Given the description of an element on the screen output the (x, y) to click on. 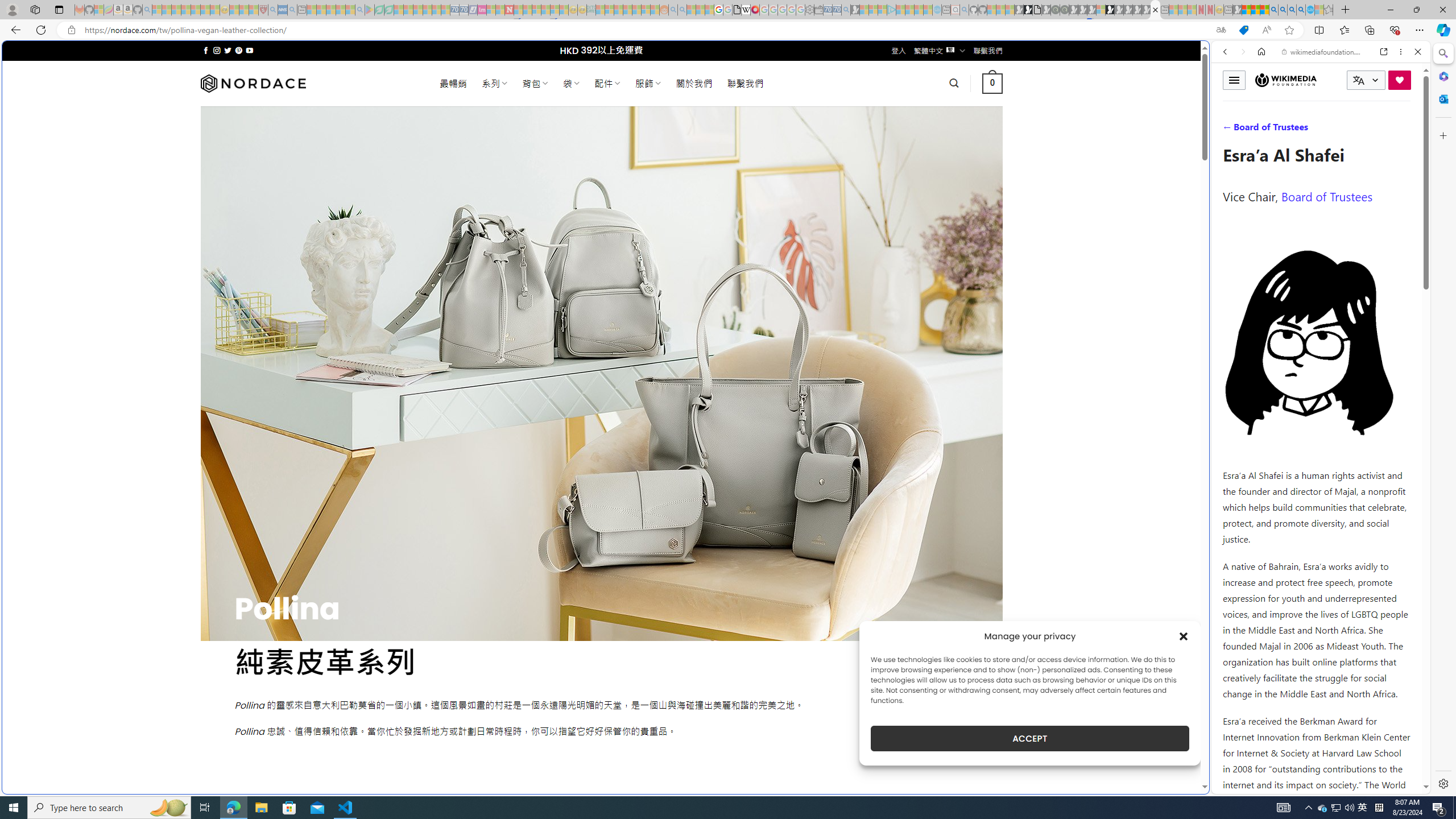
The Weather Channel - MSN - Sleeping (175, 9)
Open link in new tab (1383, 51)
Kinda Frugal - MSN - Sleeping (636, 9)
Home | Sky Blue Bikes - Sky Blue Bikes (1118, 242)
Services - Maintenance | Sky Blue Bikes - Sky Blue Bikes (1309, 9)
Follow on Pinterest (237, 50)
google - Search - Sleeping (359, 9)
Preferences (1403, 129)
Wallet - Sleeping (818, 9)
